Given the description of an element on the screen output the (x, y) to click on. 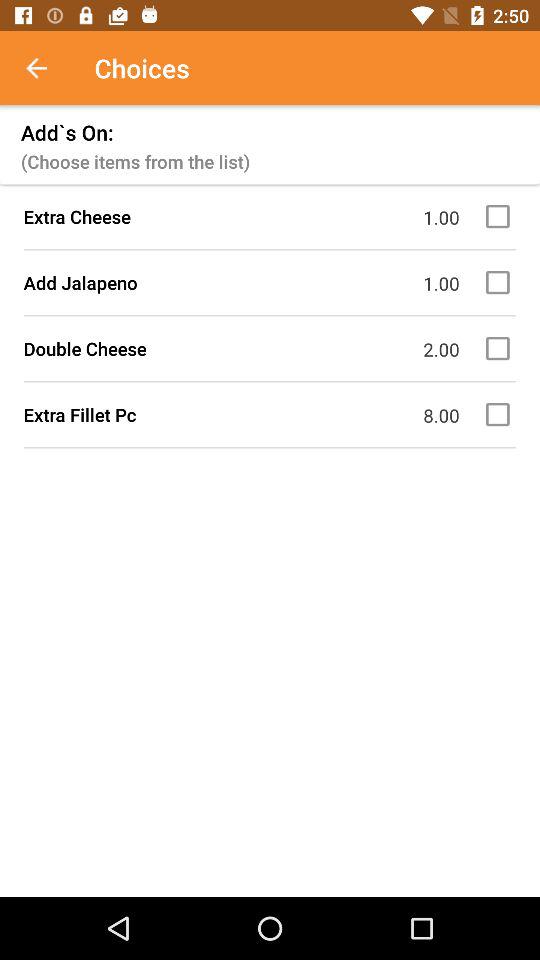
select this option (501, 414)
